Given the description of an element on the screen output the (x, y) to click on. 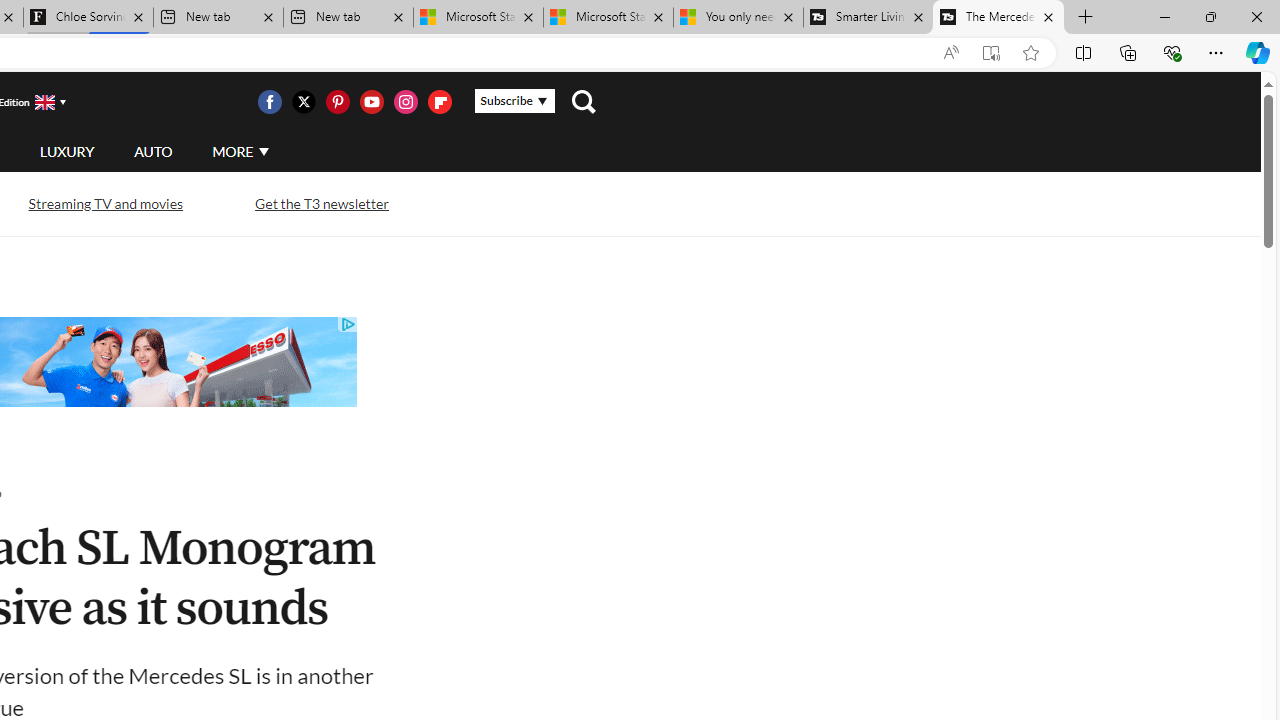
Class: svg-arrow-down (264, 151)
Visit us on Flipboard (439, 101)
Visit us on Youtube (371, 101)
Visit us on Instagram (405, 101)
LUXURY (66, 151)
Visit us on Pintrest (337, 101)
Class: icon-svg (439, 101)
LUXURY (66, 151)
